Given the description of an element on the screen output the (x, y) to click on. 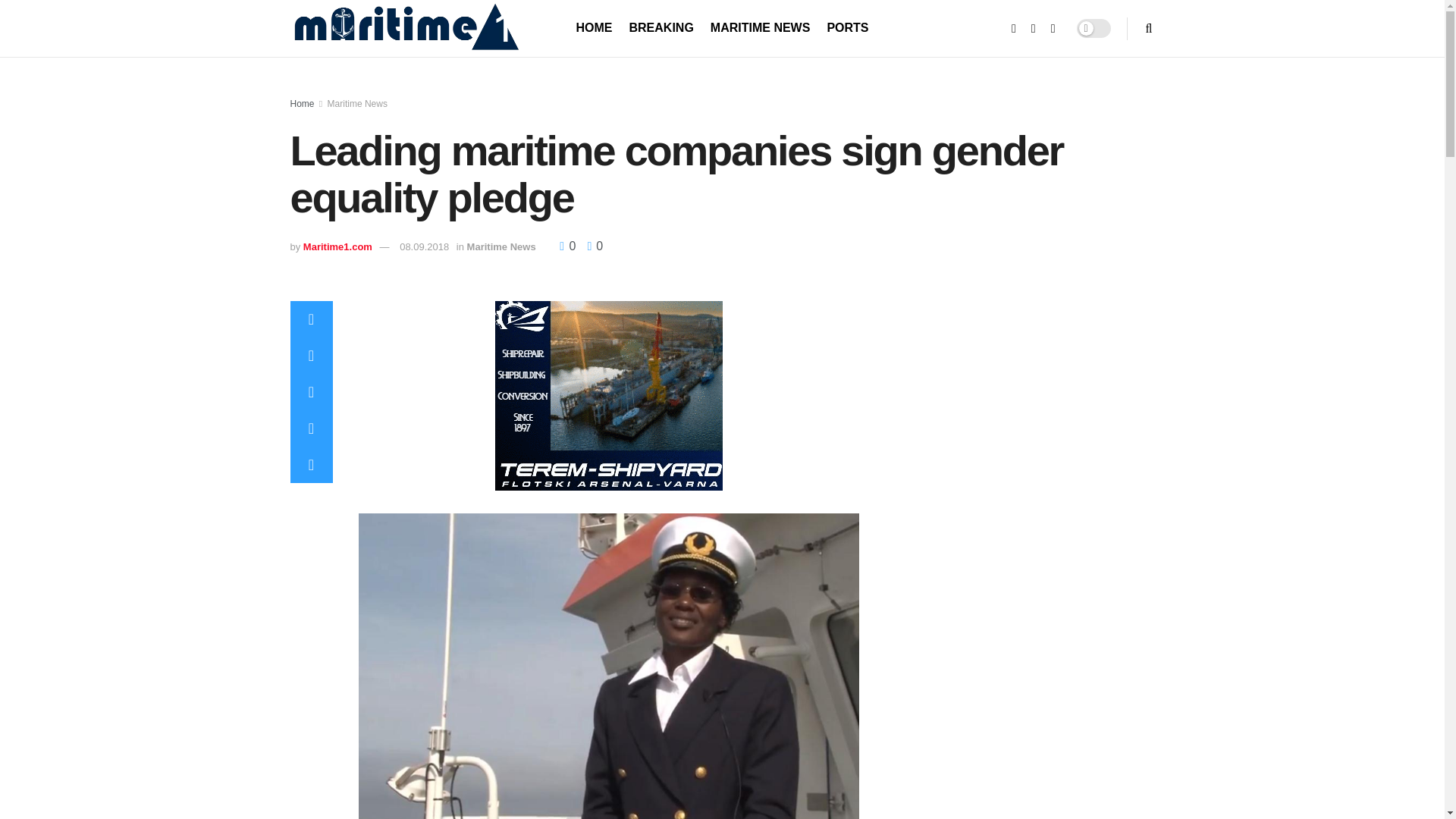
08.09.2018 (423, 246)
PORTS (847, 27)
Home (301, 103)
Maritime1.com (337, 246)
Maritime News (357, 103)
Maritime News (501, 246)
MARITIME NEWS (760, 27)
0 (569, 245)
0 (590, 245)
BREAKING (661, 27)
HOME (594, 27)
